Given the description of an element on the screen output the (x, y) to click on. 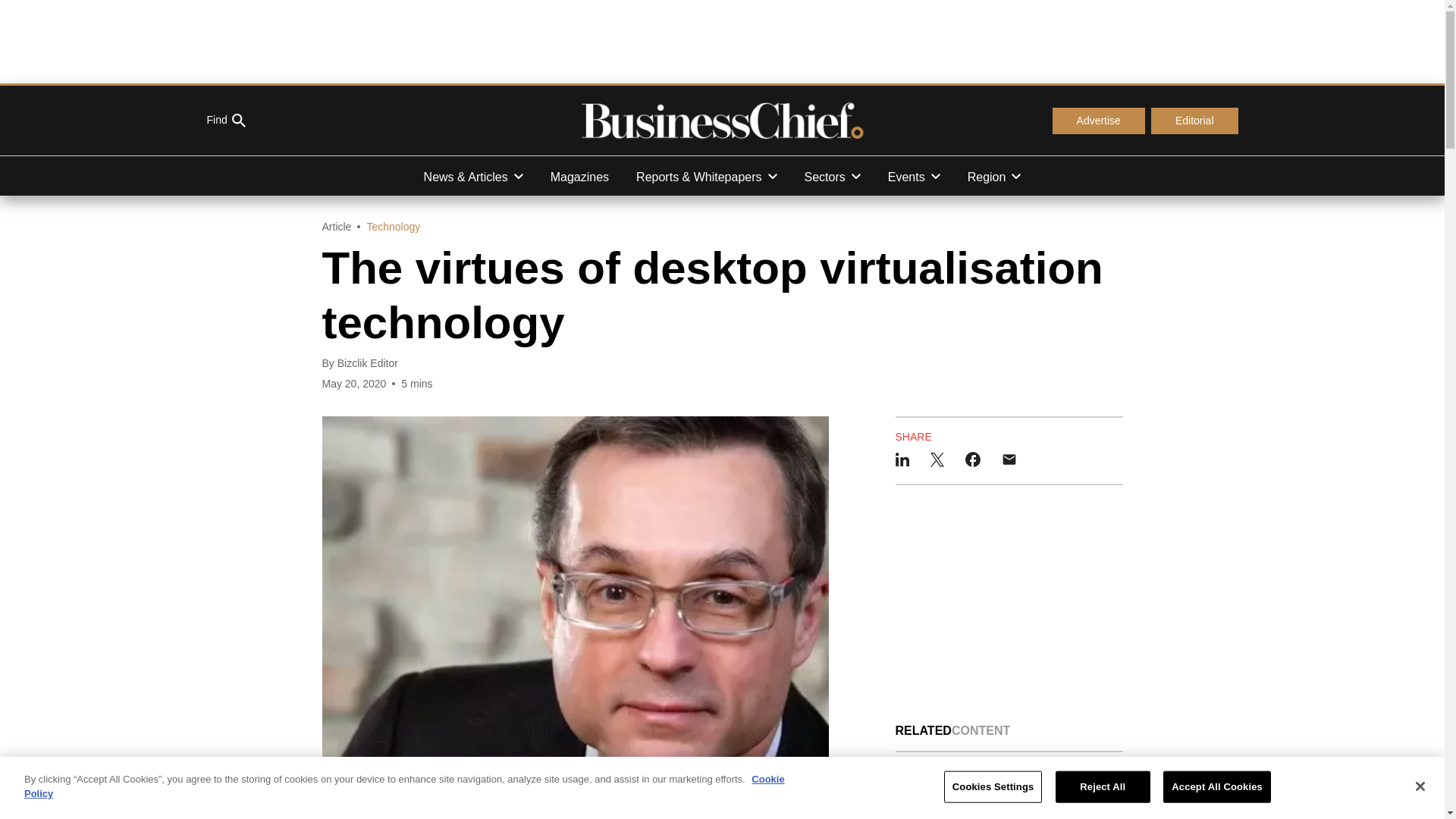
Editorial (1195, 121)
Advertise (1098, 121)
3rd party ad content (1008, 604)
Magazines (580, 175)
Events (914, 175)
Region (994, 175)
Find (225, 120)
Sectors (832, 175)
3rd party ad content (721, 41)
